Given the description of an element on the screen output the (x, y) to click on. 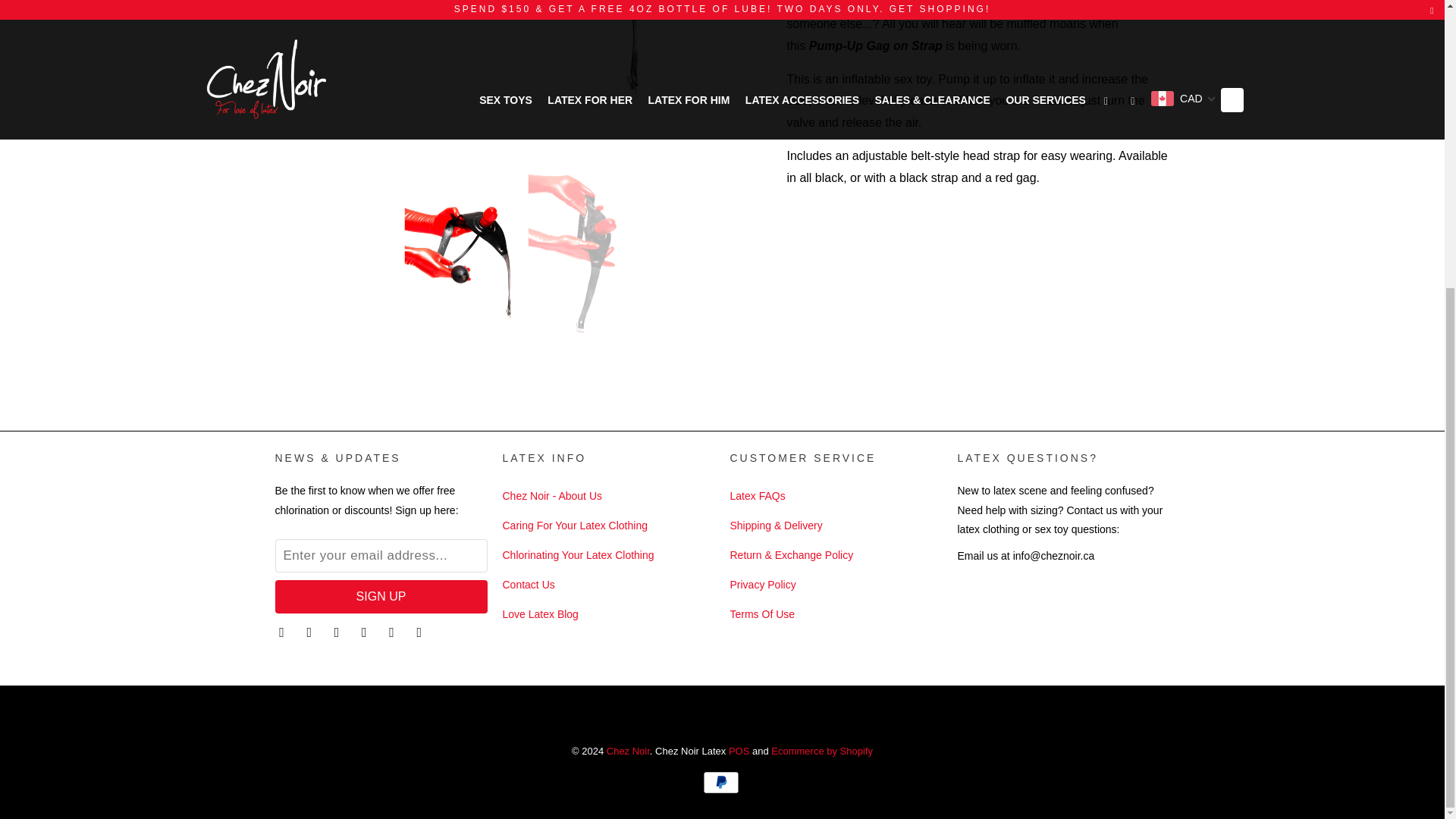
Chez Noir on Facebook (310, 631)
PayPal (721, 782)
Email Chez Noir (420, 631)
Chez Noir on Instagram (392, 631)
Chez Noir on YouTube (338, 631)
Chez Noir on Pinterest (365, 631)
Chez Noir on Twitter (283, 631)
Sign Up (380, 596)
Red latex gloves holding an inflatable gag on a strap. (523, 75)
